Given the description of an element on the screen output the (x, y) to click on. 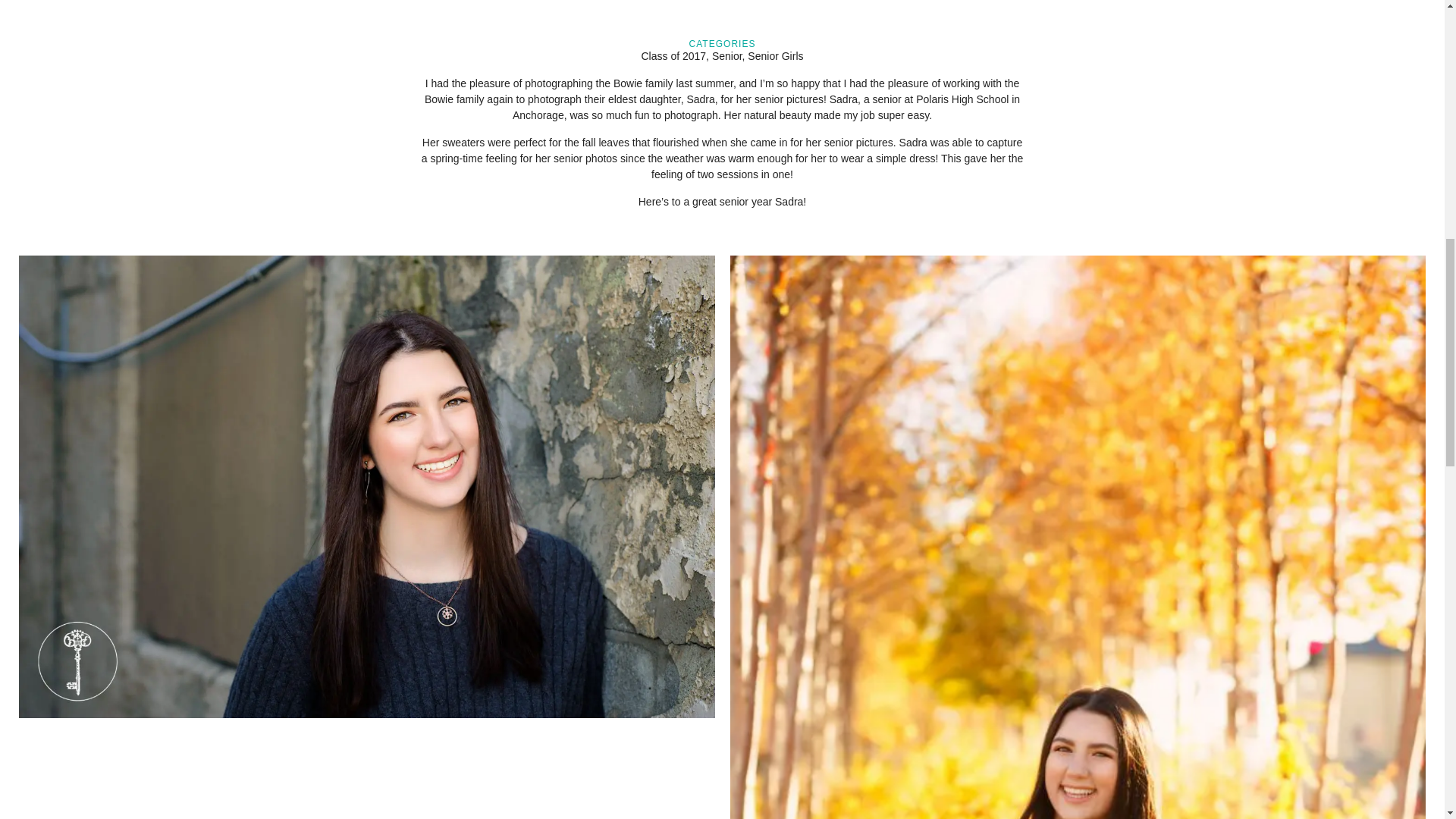
Senior Girls (775, 55)
Senior (726, 55)
Class of 2017 (673, 55)
